Given the description of an element on the screen output the (x, y) to click on. 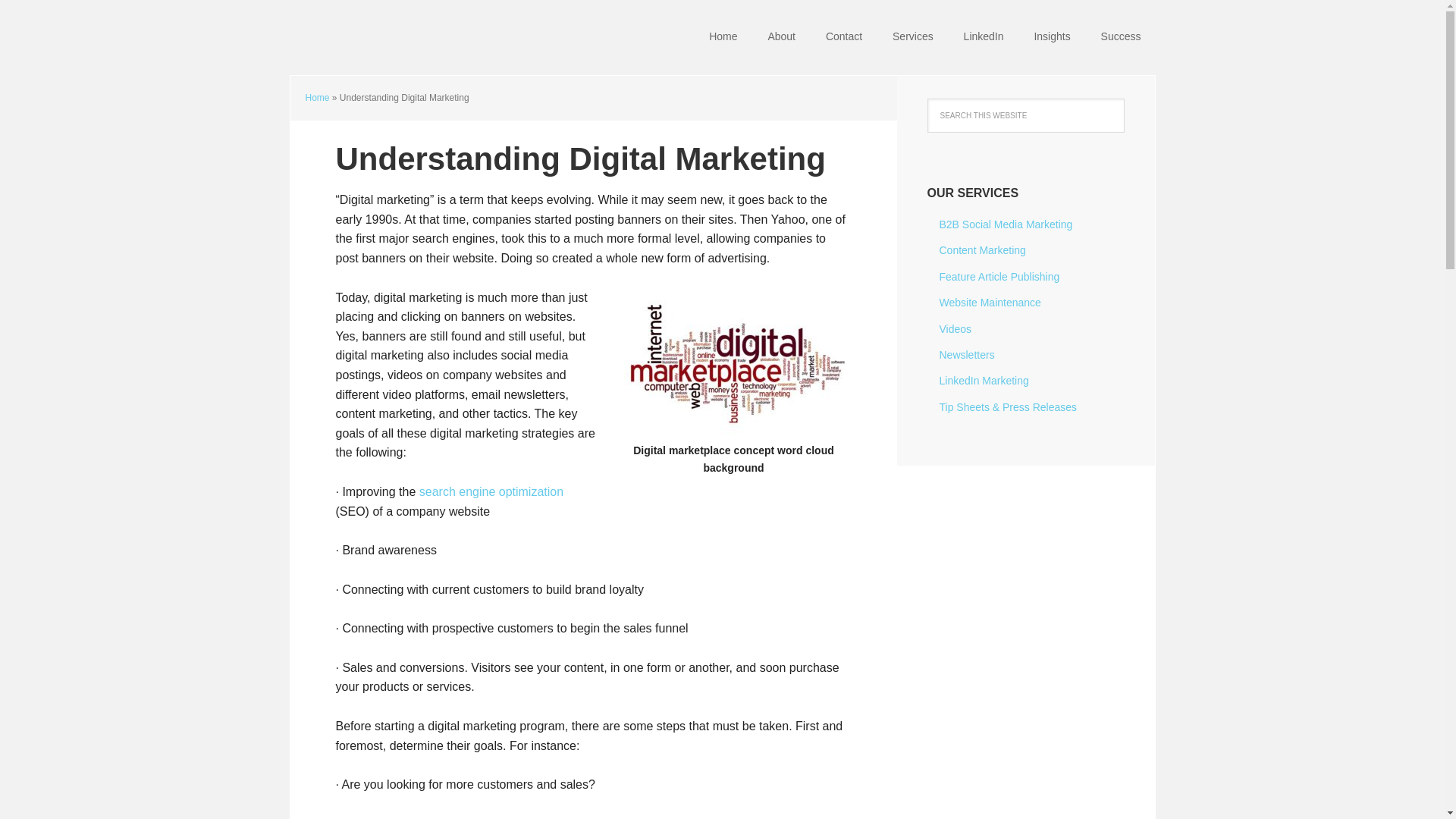
Home (316, 97)
Videos (955, 328)
Website Maintenance (990, 302)
Newsletters (966, 354)
search engine optimization (491, 491)
B2B Social Media Marketing (1005, 224)
Content Marketing (982, 250)
Success (1120, 37)
LinkedIn (983, 37)
